Given the description of an element on the screen output the (x, y) to click on. 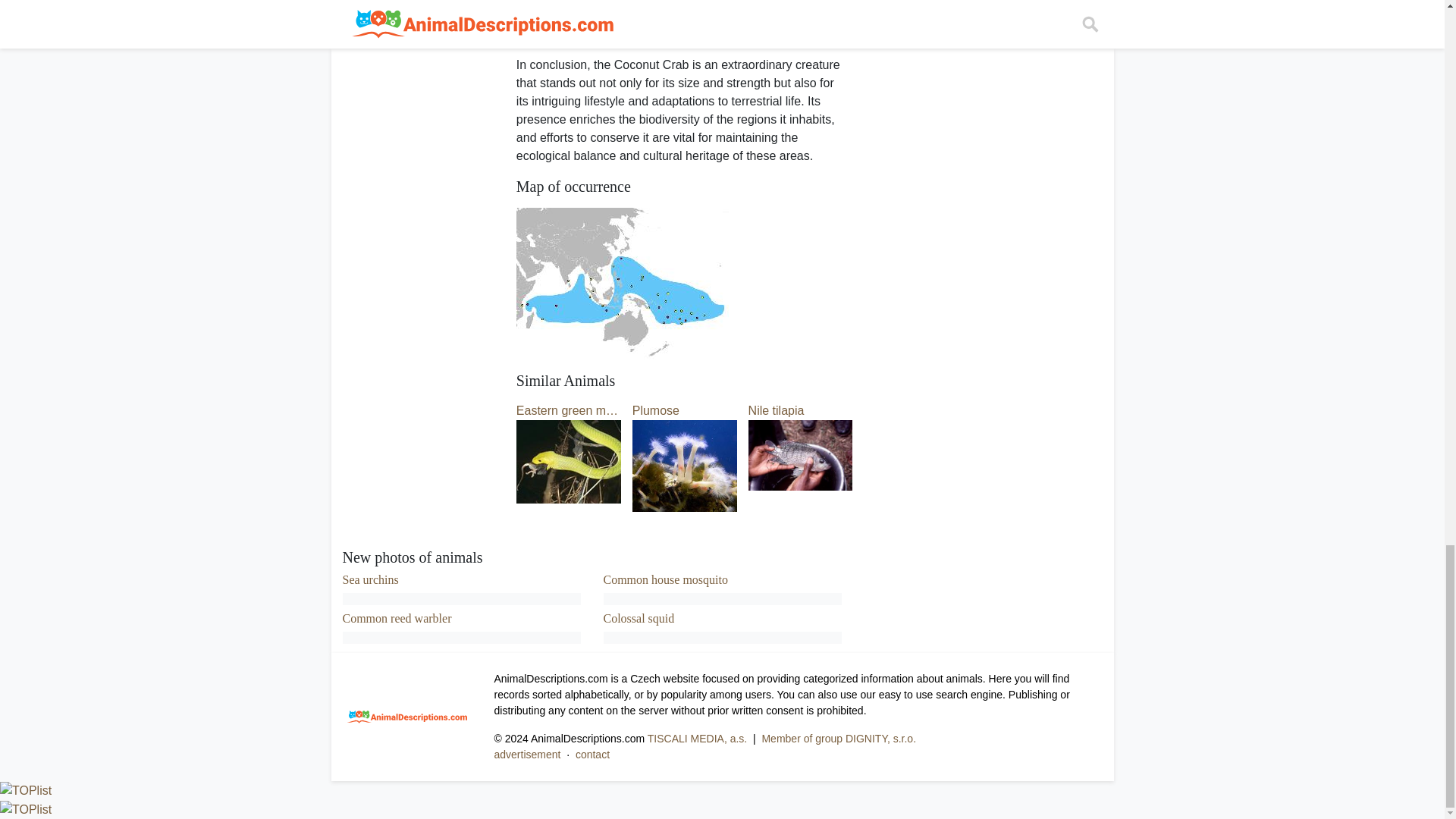
Colossal squid (639, 617)
Nile tilapia (800, 431)
Common house mosquito (666, 579)
Plumose (683, 436)
Common reed warbler (396, 617)
Eastern green mamba (568, 434)
Sea urchins (370, 579)
